Given the description of an element on the screen output the (x, y) to click on. 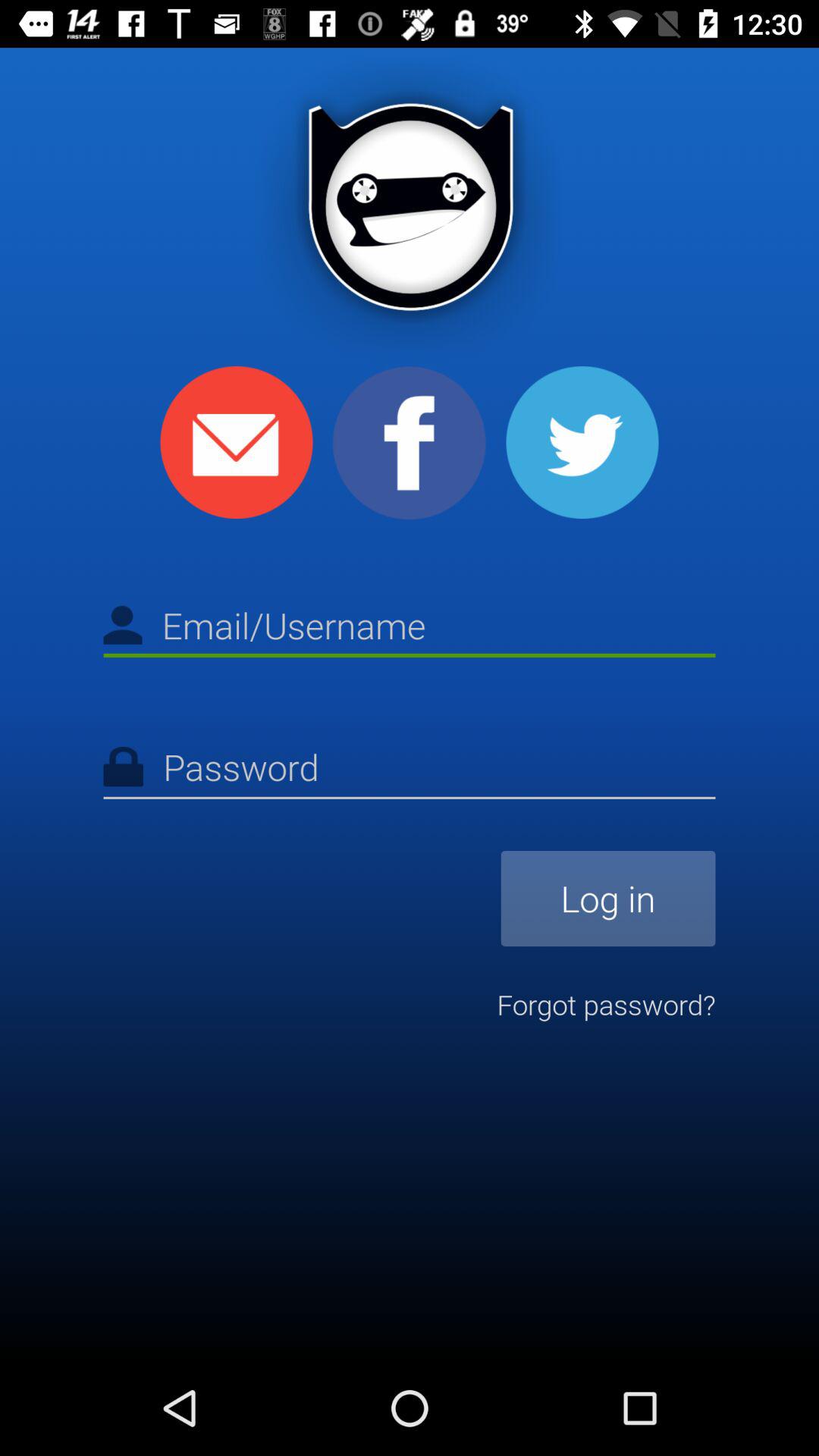
select email icon (236, 442)
